Given the description of an element on the screen output the (x, y) to click on. 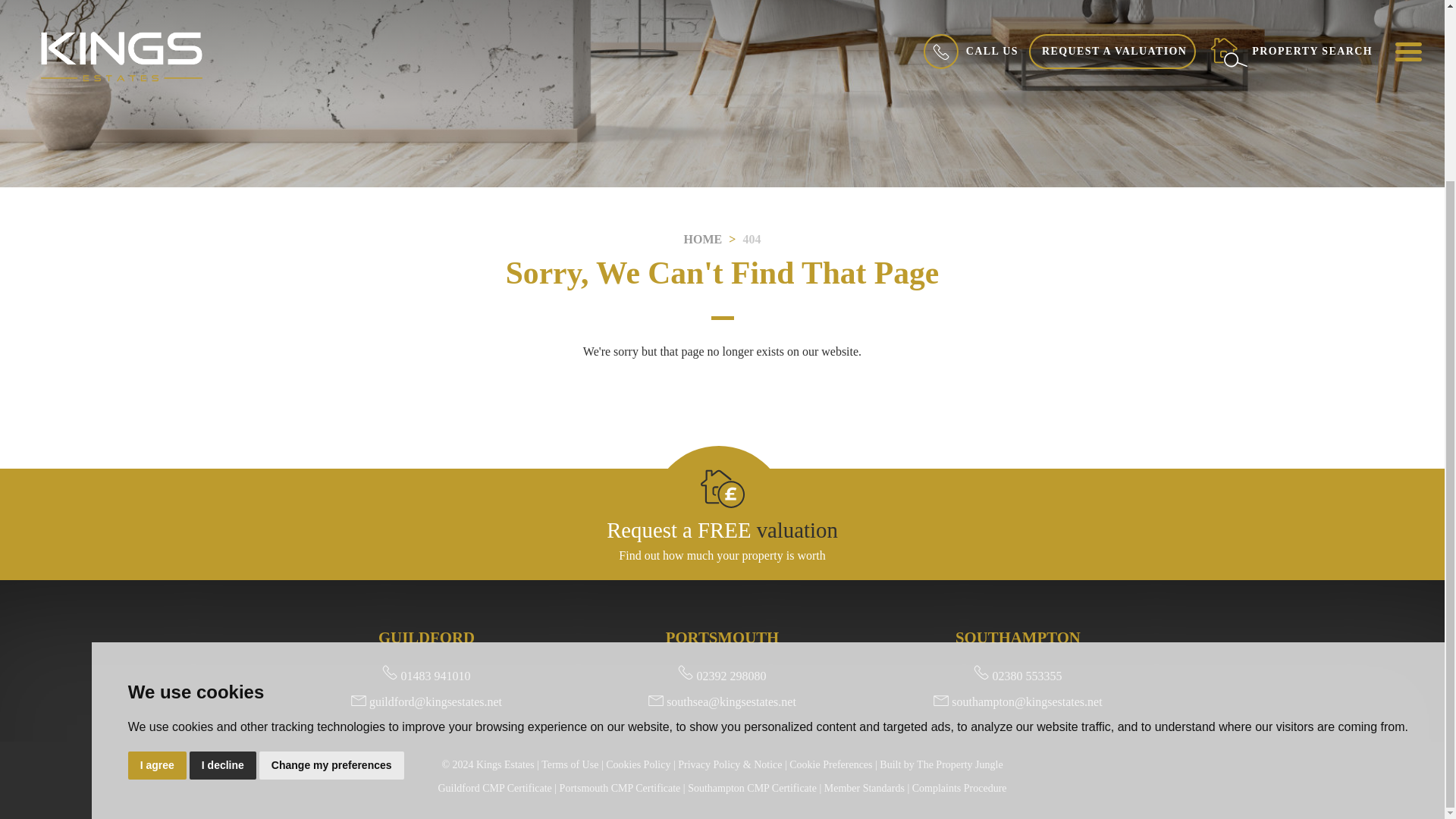
Built by The Property Jungle (941, 764)
Portsmouth CMP Certificate (620, 787)
01483 941010 (425, 675)
Change my preferences (331, 543)
02392 298080 (721, 675)
HOME (703, 238)
I decline (222, 543)
Guildford CMP Certificate (494, 787)
Complaints Procedure (959, 787)
Cookies Policy (637, 764)
Member Standards (864, 787)
Terms of Use (569, 764)
I agree (157, 543)
Southampton CMP Certificate (751, 787)
Privacy Policy (729, 764)
